Given the description of an element on the screen output the (x, y) to click on. 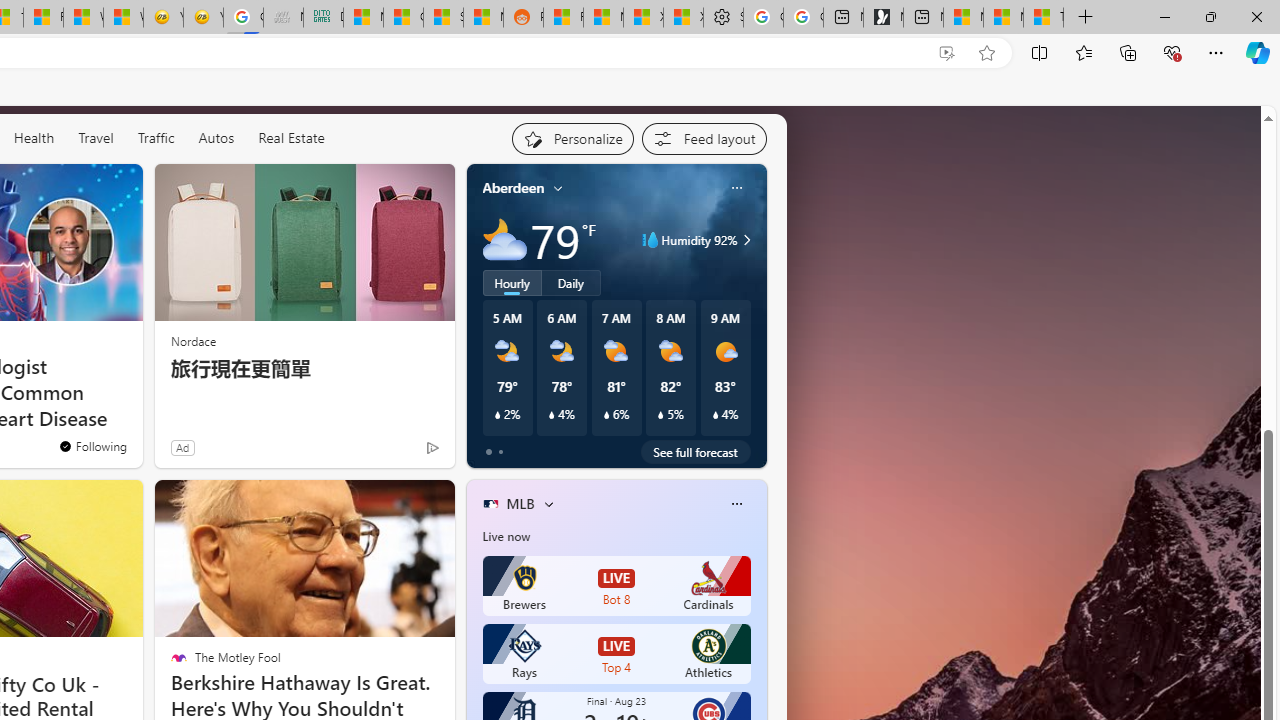
Mostly cloudy (504, 240)
Travel (95, 137)
See full forecast (695, 451)
Personalize your feed" (571, 138)
Real Estate (290, 138)
Real Estate (291, 137)
